Given the description of an element on the screen output the (x, y) to click on. 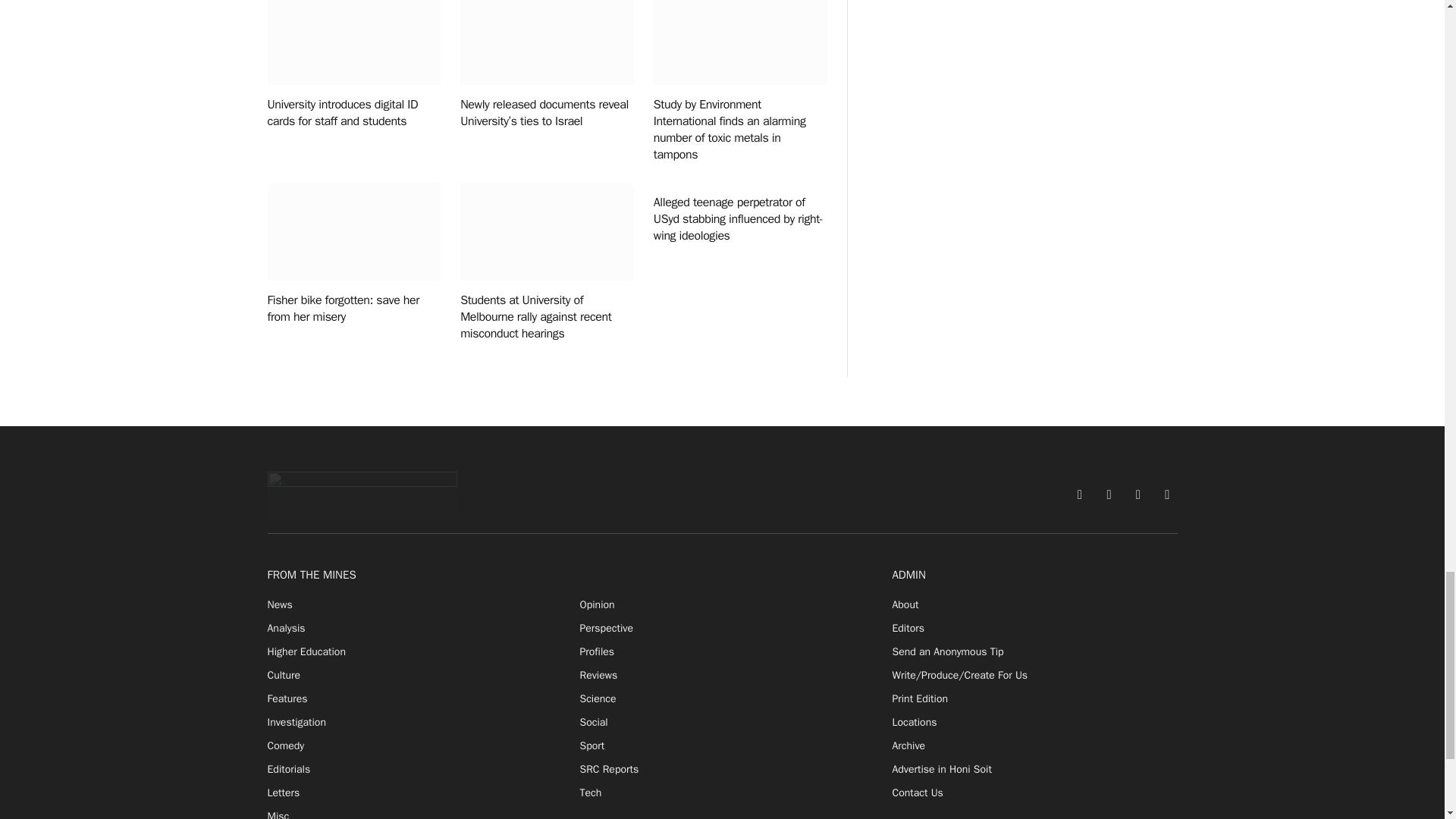
Fisher bike forgotten: save her from her misery (353, 231)
